Given the description of an element on the screen output the (x, y) to click on. 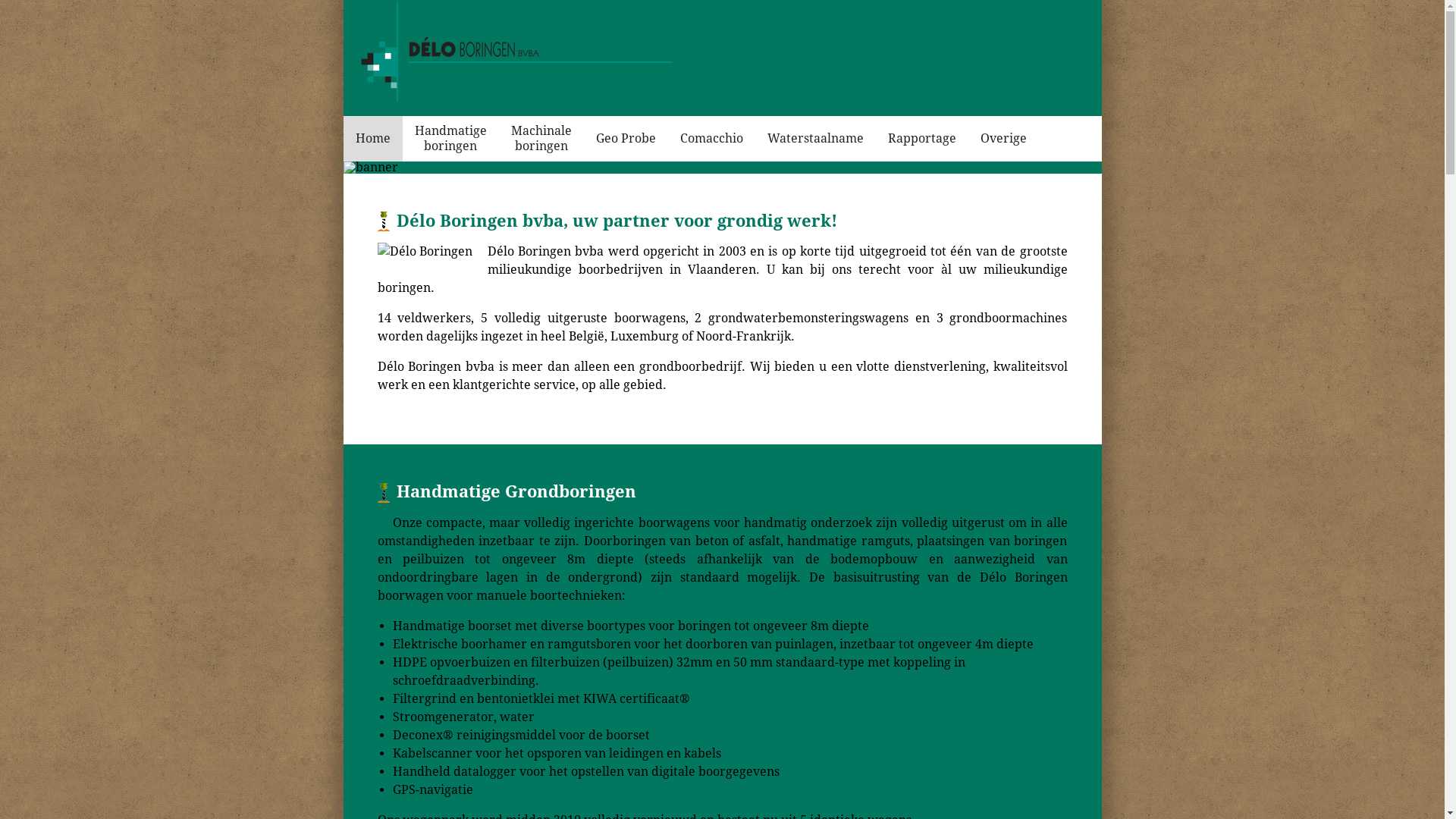
Machinale
 boringen Element type: text (540, 138)
Rapportage Element type: text (921, 138)
Geo Probe Element type: text (625, 138)
Waterstaalname Element type: text (815, 138)
Handmatige
 boringen Element type: text (449, 138)
Home Element type: text (371, 138)
Comacchio Element type: text (710, 138)
Overige Element type: text (1002, 138)
